Given the description of an element on the screen output the (x, y) to click on. 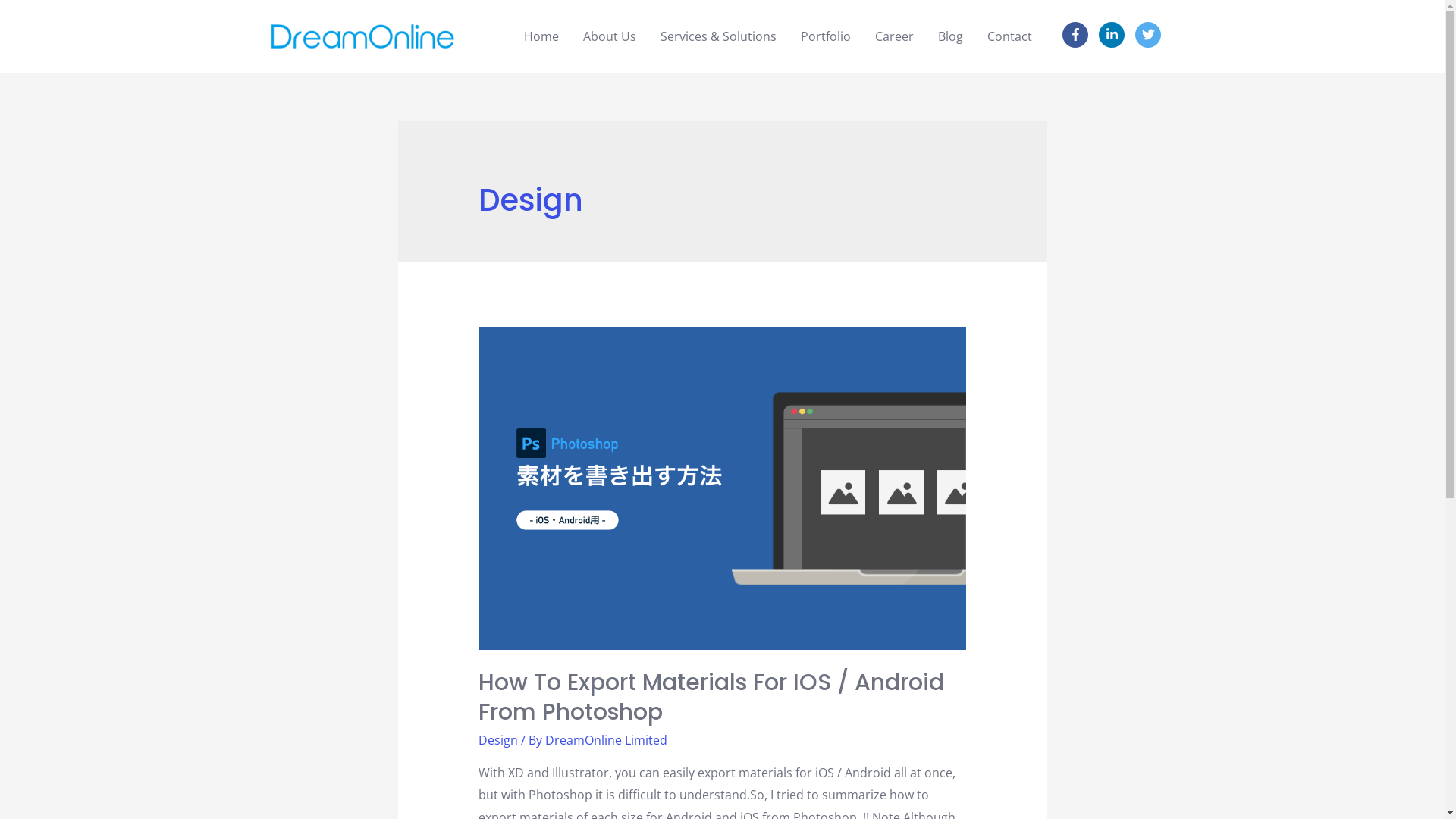
Portfolio Element type: text (825, 36)
Contact Element type: text (1009, 36)
Services & Solutions Element type: text (718, 36)
Design Element type: text (497, 739)
About Us Element type: text (609, 36)
How To Export Materials For IOS / Android From Photoshop Element type: text (711, 697)
DreamOnline Limited Element type: text (606, 739)
Blog Element type: text (950, 36)
Home Element type: text (541, 36)
Career Element type: text (893, 36)
